Given the description of an element on the screen output the (x, y) to click on. 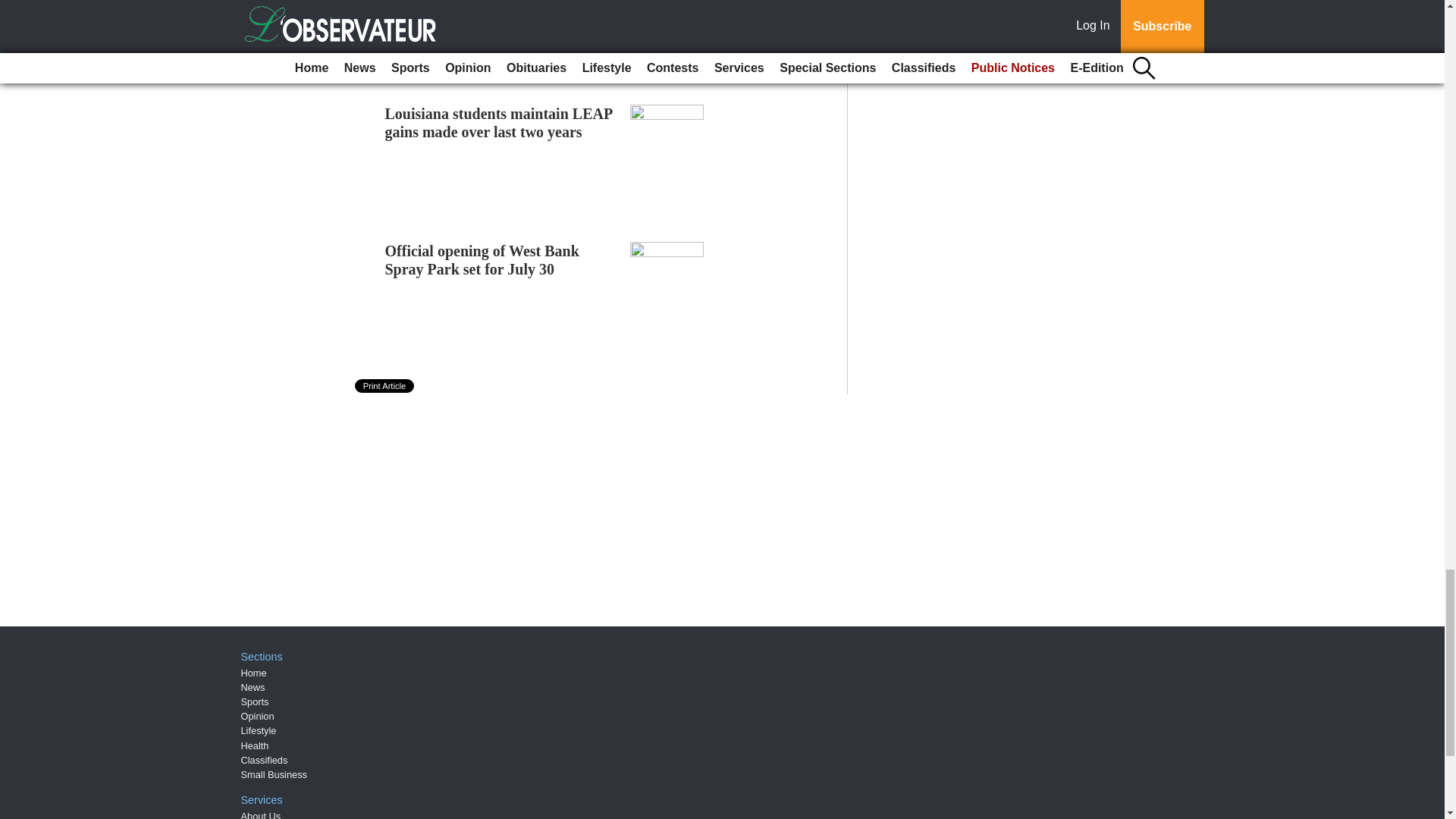
Print Article (384, 386)
Official opening of West Bank Spray Park set for July 30 (482, 259)
Official opening of West Bank Spray Park set for July 30 (482, 259)
